Given the description of an element on the screen output the (x, y) to click on. 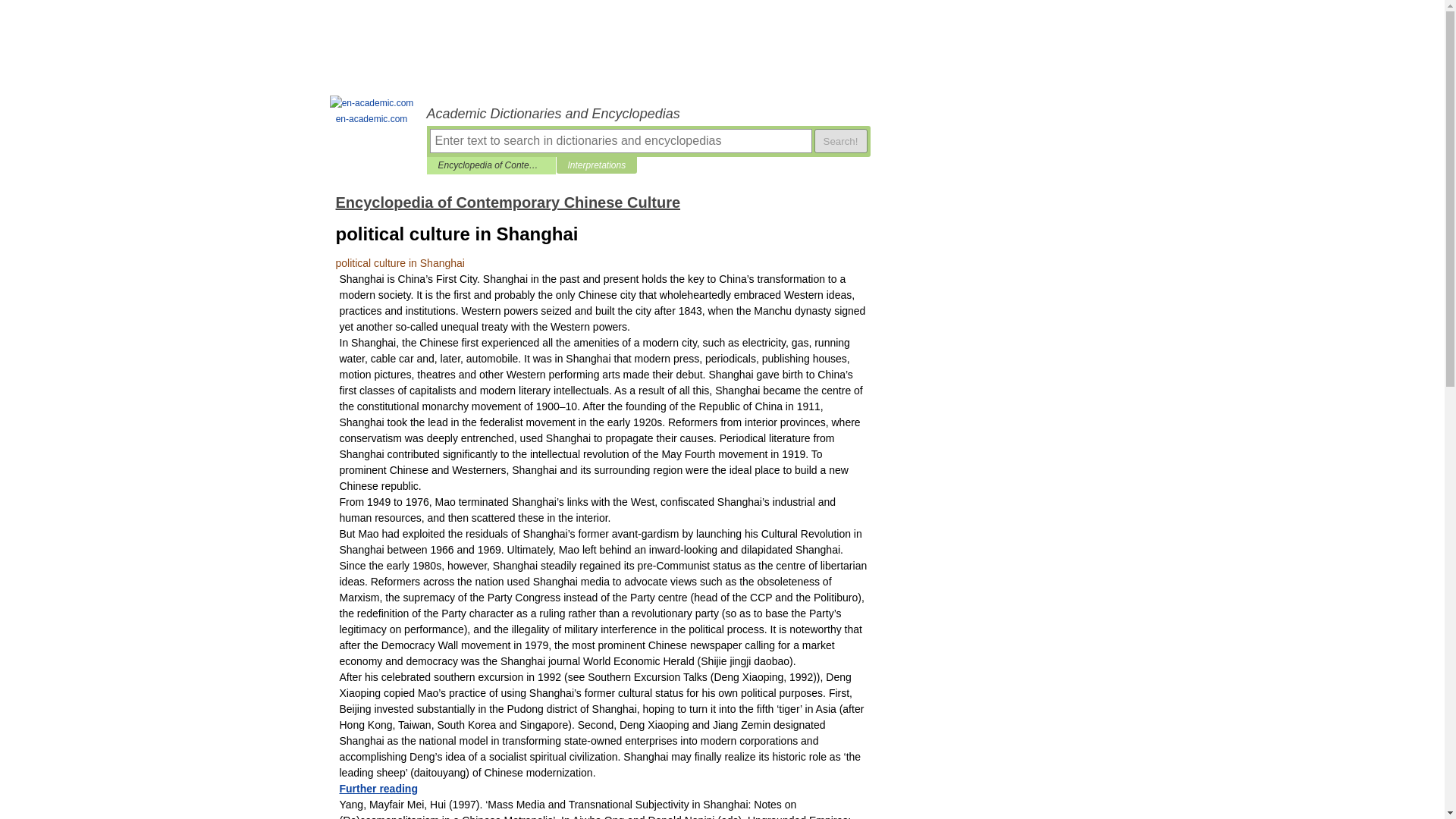
Encyclopedia of Contemporary Chinese Culture (491, 165)
Academic Dictionaries and Encyclopedias (647, 114)
Interpretations (596, 165)
en-academic.com (371, 111)
Enter text to search in dictionaries and encyclopedias (619, 140)
Encyclopedia of Contemporary Chinese Culture (506, 202)
Search! (840, 140)
Further reading (378, 788)
